Given the description of an element on the screen output the (x, y) to click on. 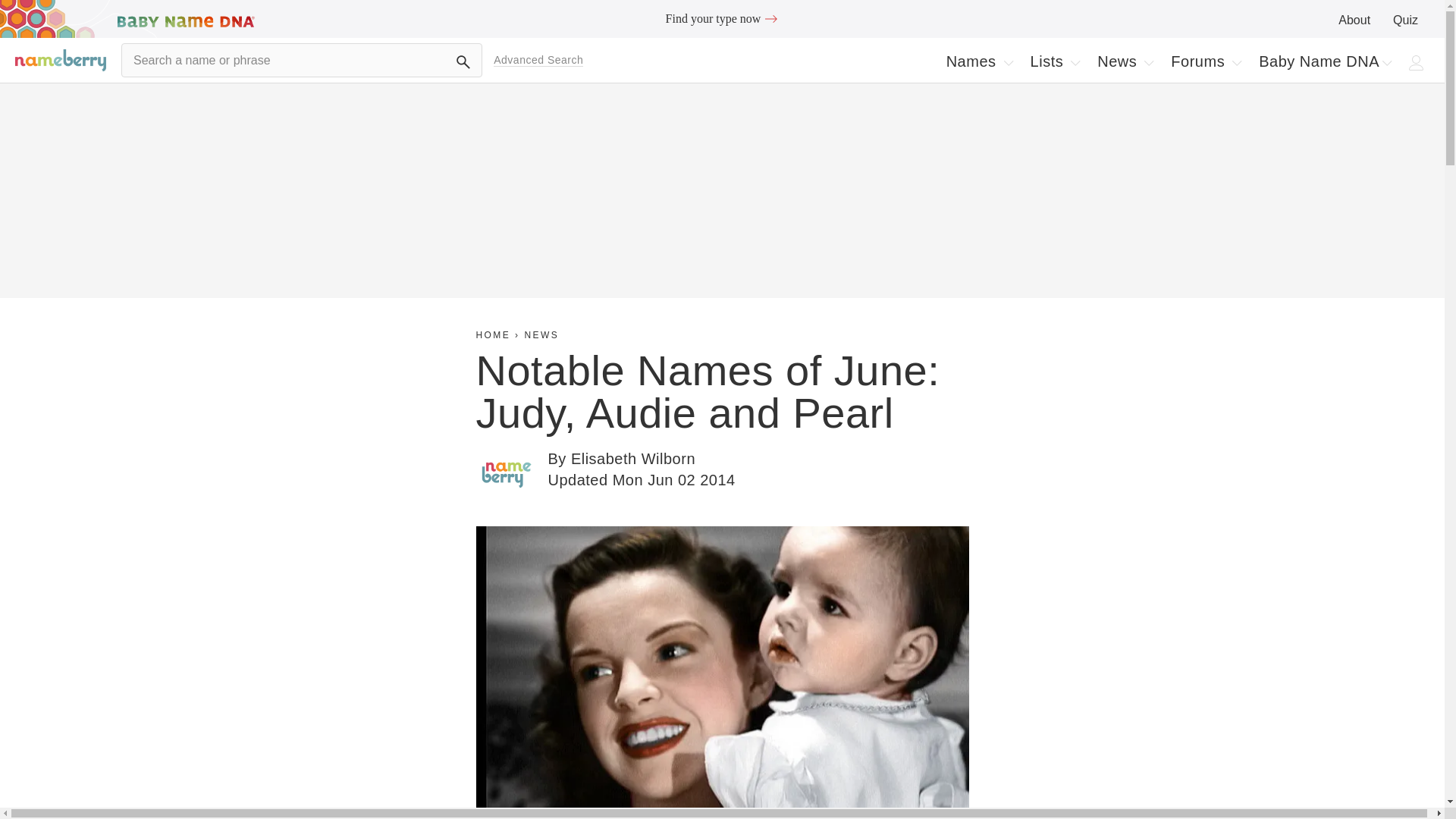
Chevron - Down (1075, 62)
Arrow Right (770, 18)
Chevron - Down (1008, 62)
About (979, 61)
Chevron - Down (1354, 19)
Quiz (1148, 62)
Search (1055, 61)
Chevron - Down (1405, 19)
User (462, 61)
Chevron - Down (1386, 62)
3rd party ad content (721, 18)
